Given the description of an element on the screen output the (x, y) to click on. 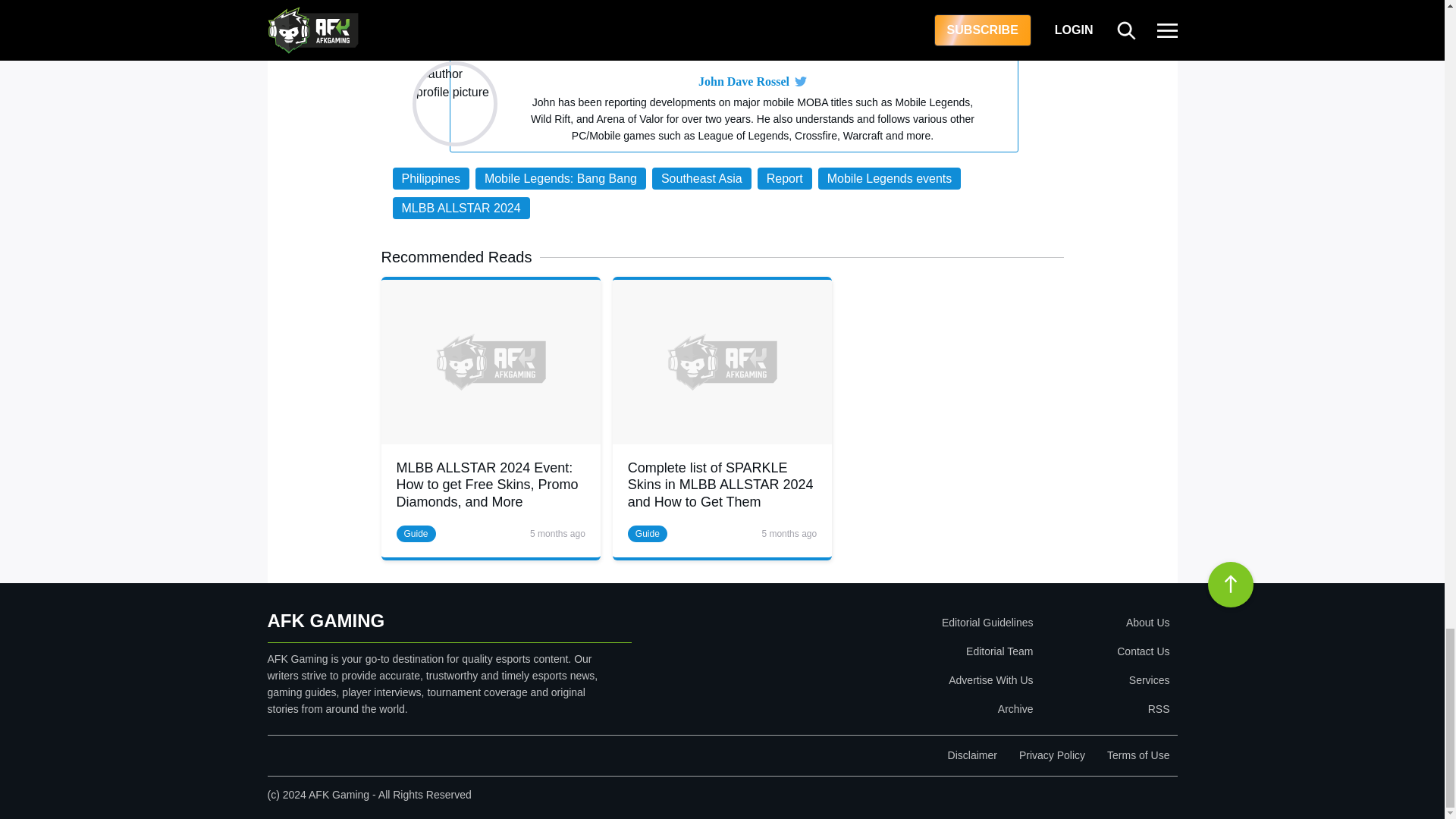
Contact Us (1105, 651)
Editorial Guidelines (899, 622)
Archive (899, 708)
MLBB ALLSTAR 2024 (461, 208)
Advertise With Us (899, 680)
Services (1105, 680)
Privacy Policy (1051, 755)
Report (784, 178)
Disclaimer (972, 755)
